Given the description of an element on the screen output the (x, y) to click on. 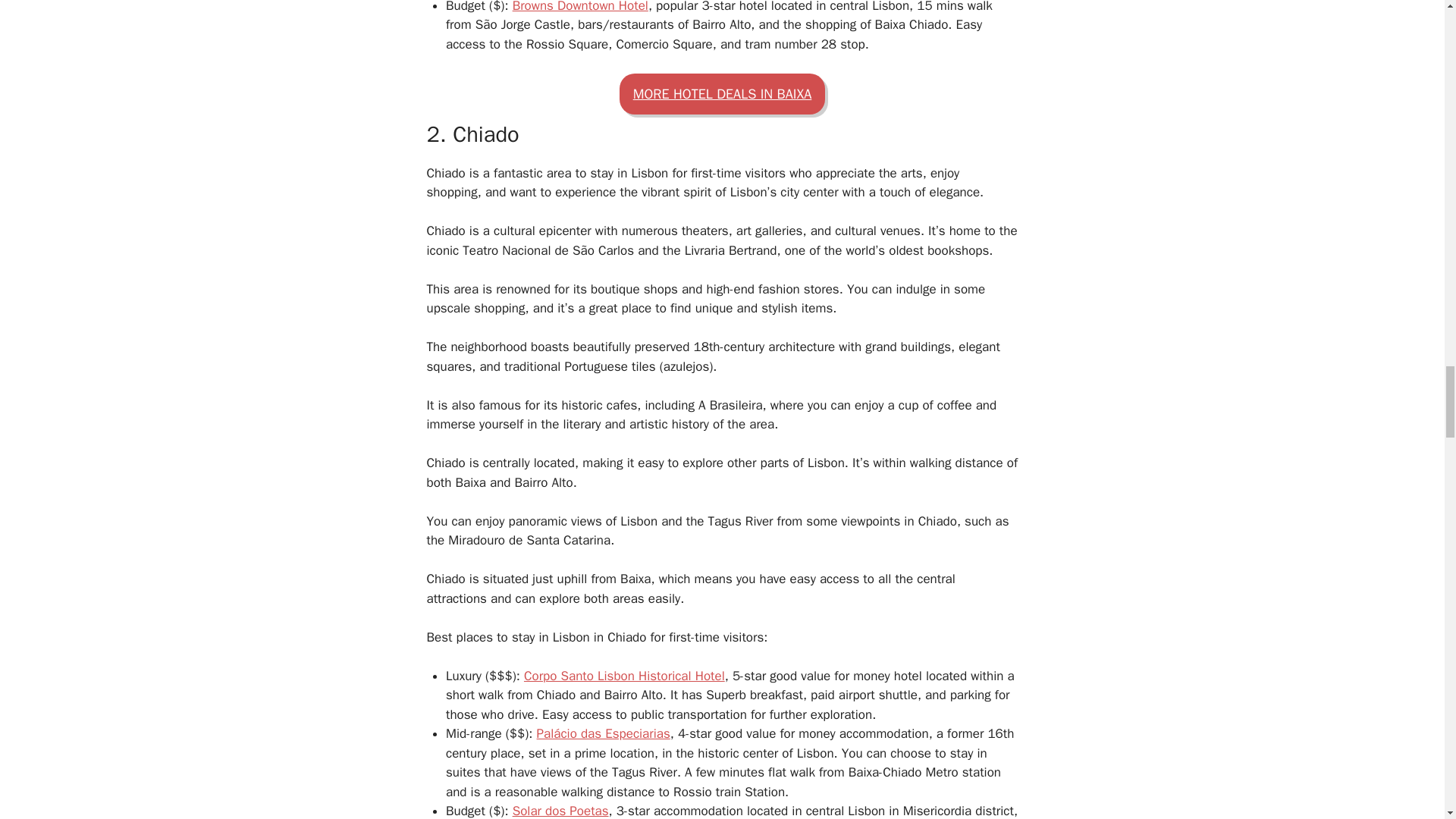
Corpo Santo Lisbon Historical Hotel (624, 675)
Browns Downtown Hotel (579, 6)
Solar dos Poetas (560, 811)
MORE HOTEL DEALS IN BAIXA (722, 93)
